Given the description of an element on the screen output the (x, y) to click on. 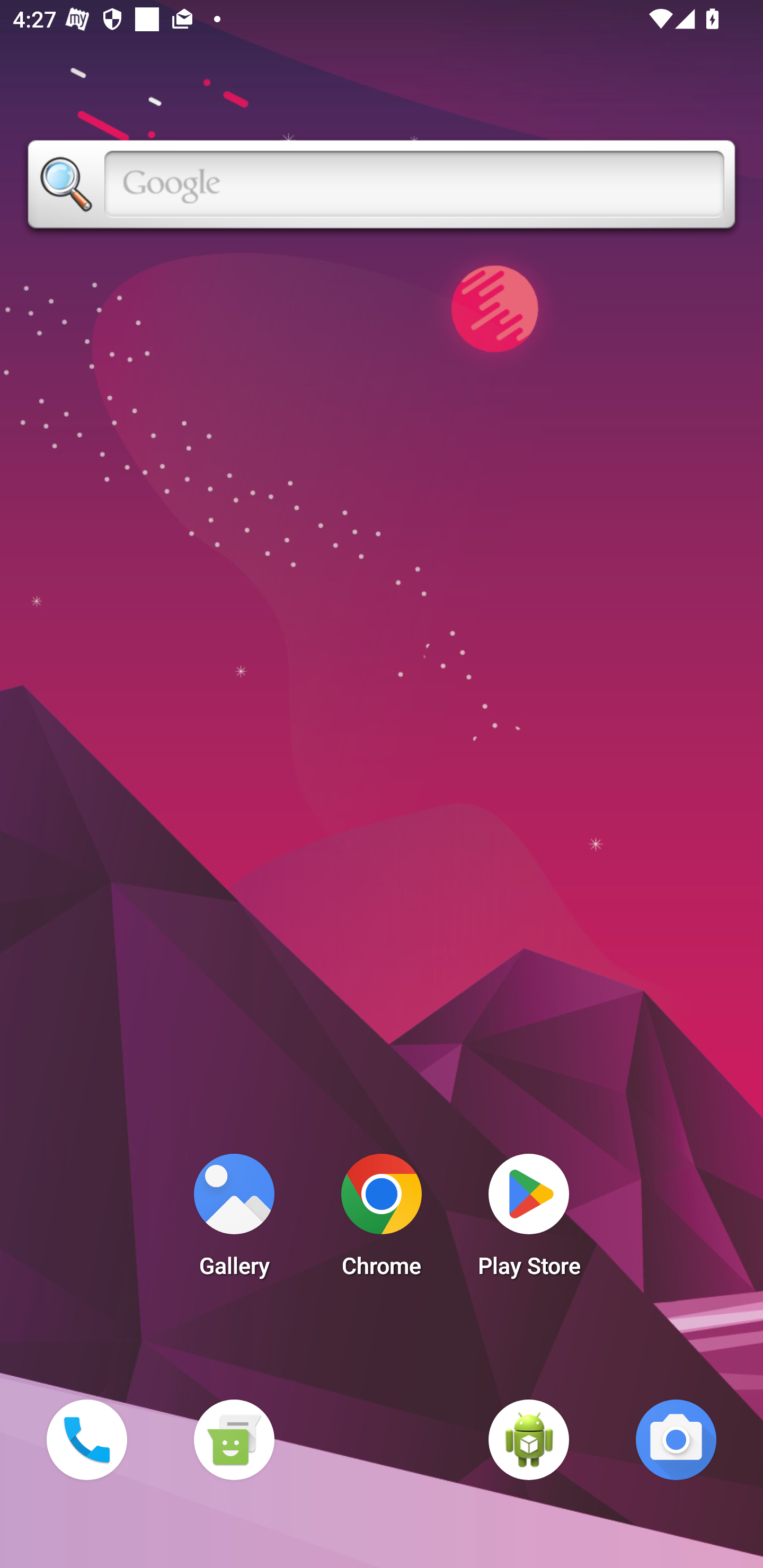
Gallery (233, 1220)
Chrome (381, 1220)
Play Store (528, 1220)
Phone (86, 1439)
Messaging (233, 1439)
WebView Browser Tester (528, 1439)
Camera (676, 1439)
